Given the description of an element on the screen output the (x, y) to click on. 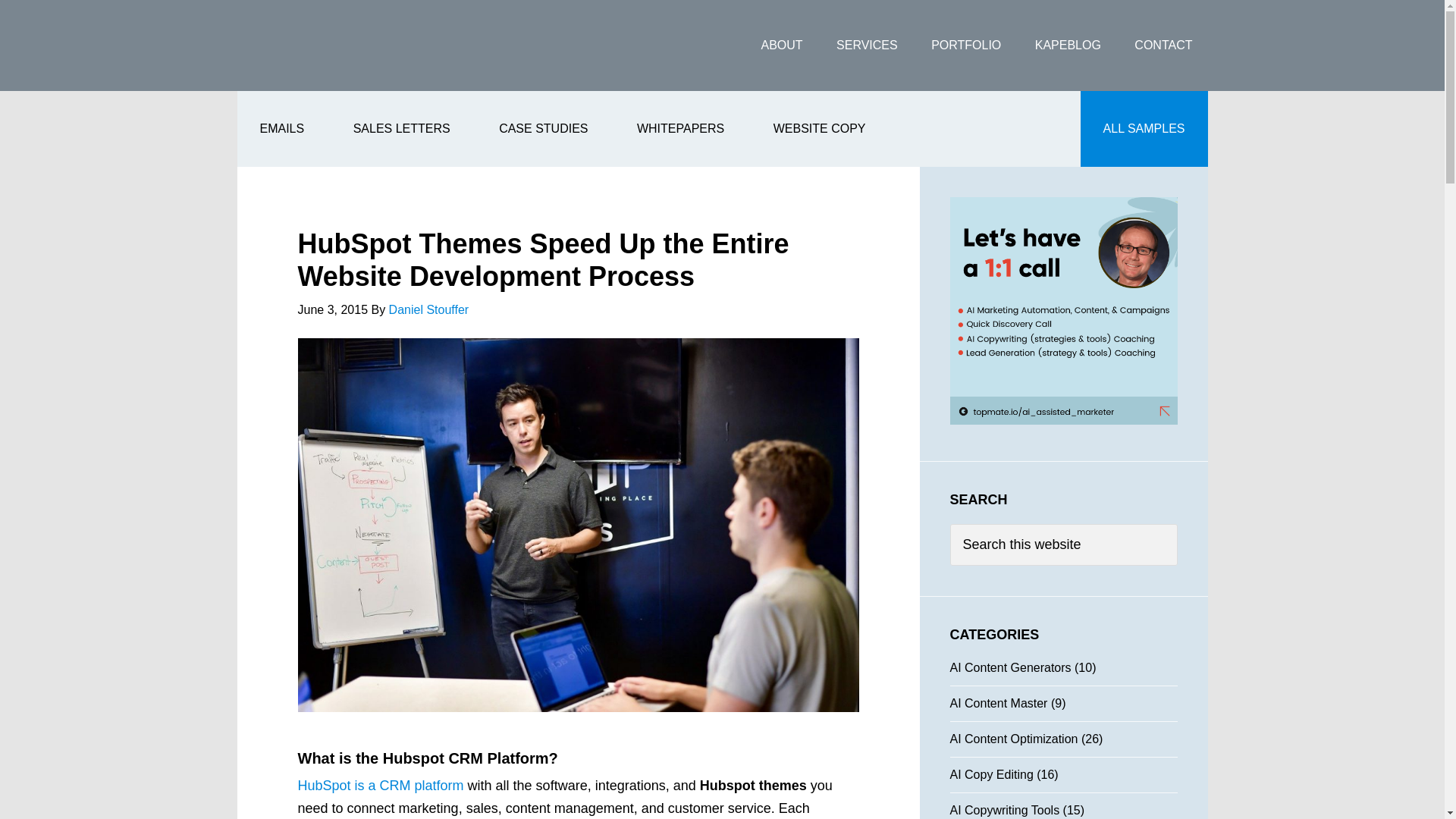
CONTACT (1163, 45)
KAPEBLOG (1068, 45)
SERVICES (866, 45)
ABOUT (780, 45)
PORTFOLIO (965, 45)
EMAILS (280, 128)
